Given the description of an element on the screen output the (x, y) to click on. 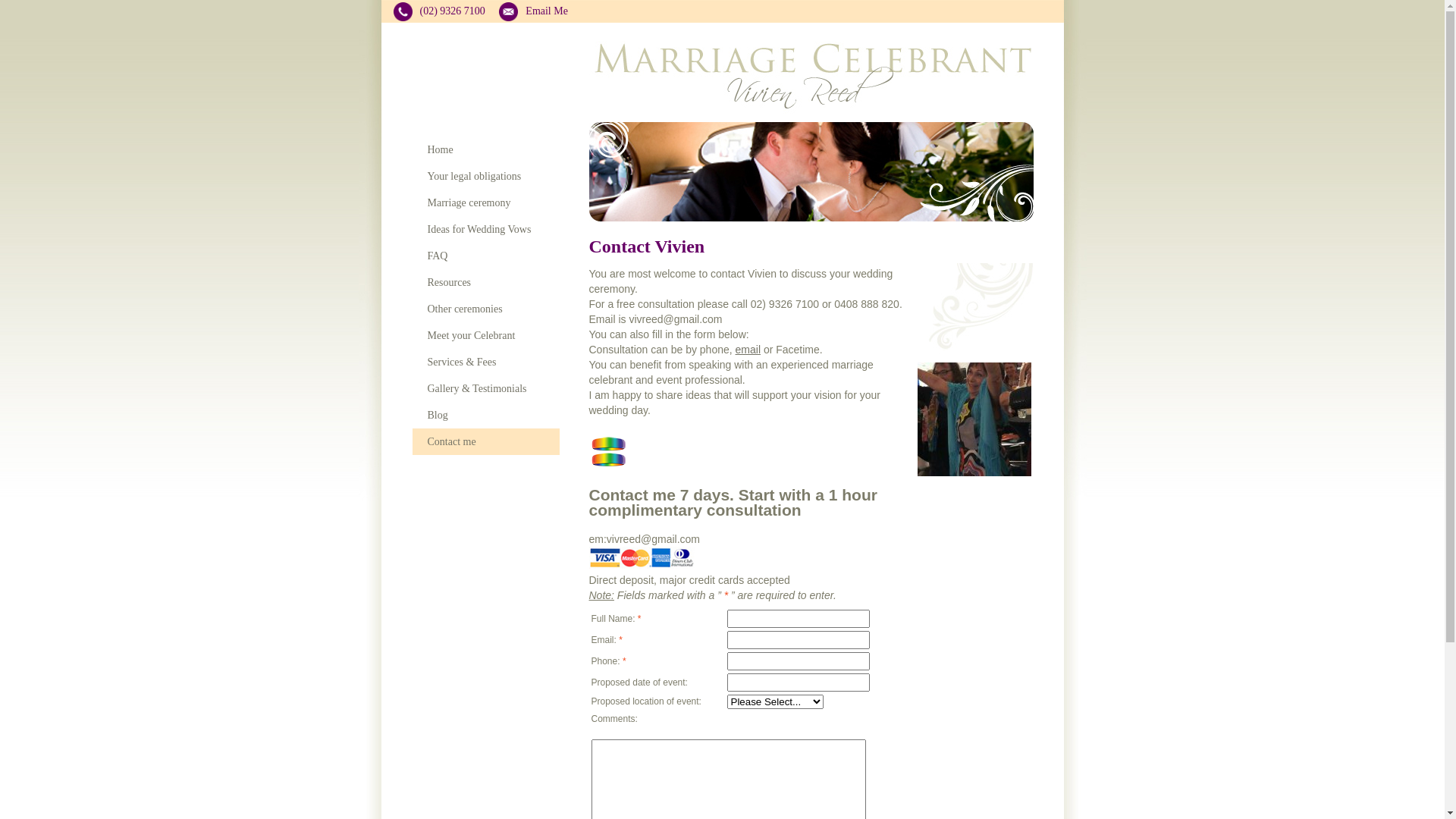
Resources Element type: text (485, 282)
Home Element type: text (485, 149)
Contact me Element type: text (485, 441)
Your legal obligations Element type: text (485, 176)
FAQ Element type: text (485, 255)
Meet your Celebrant Element type: text (485, 335)
Celebrants For Marriage Equality Logo Element type: hover (607, 451)
Other ceremonies Element type: text (485, 308)
email Element type: text (747, 349)
Services & Fees Element type: text (485, 361)
Ideas for Wedding Vows Element type: text (485, 229)
(02) 9326 7100 Element type: text (438, 10)
Gallery & Testimonials Element type: text (485, 388)
Blog Element type: text (485, 414)
Email Me Element type: text (532, 10)
Marriage ceremony Element type: text (485, 202)
